Given the description of an element on the screen output the (x, y) to click on. 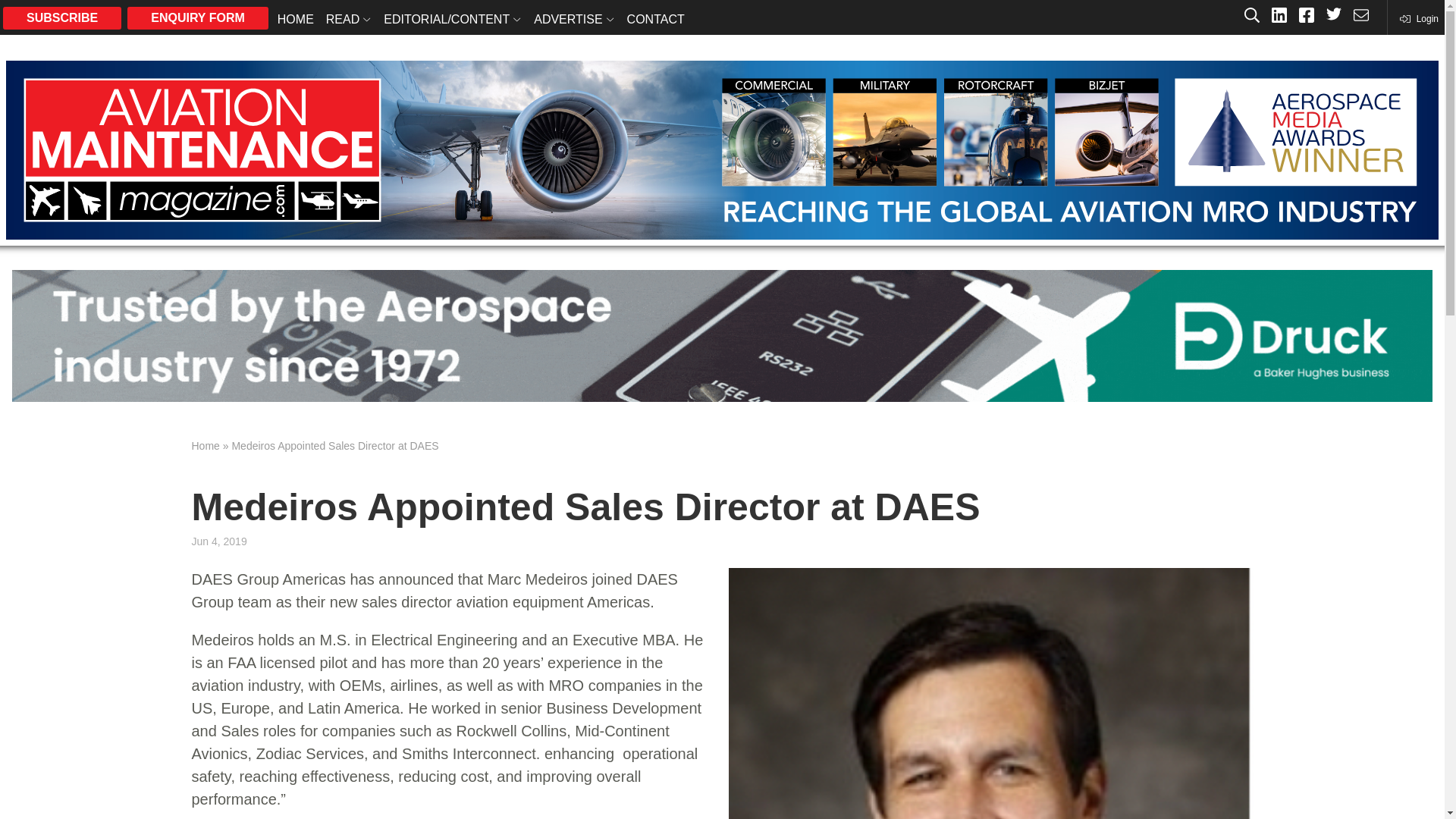
Aviation Maintenance Magazine Email Address (1361, 17)
login-icon (1418, 18)
Login (1418, 18)
Aviation Maintenance Magazine Twitter Page (1333, 17)
Aviation Maintenance Magazine LinkedIn Company Page (1279, 17)
ENQUIRY FORM (197, 16)
READ (348, 18)
CONTACT (655, 18)
ADVERTISE (573, 18)
HOME (295, 18)
Aviation Maintenance Magazine Facebook Page (1306, 17)
SUBSCRIBE (61, 16)
Home (204, 445)
